Given the description of an element on the screen output the (x, y) to click on. 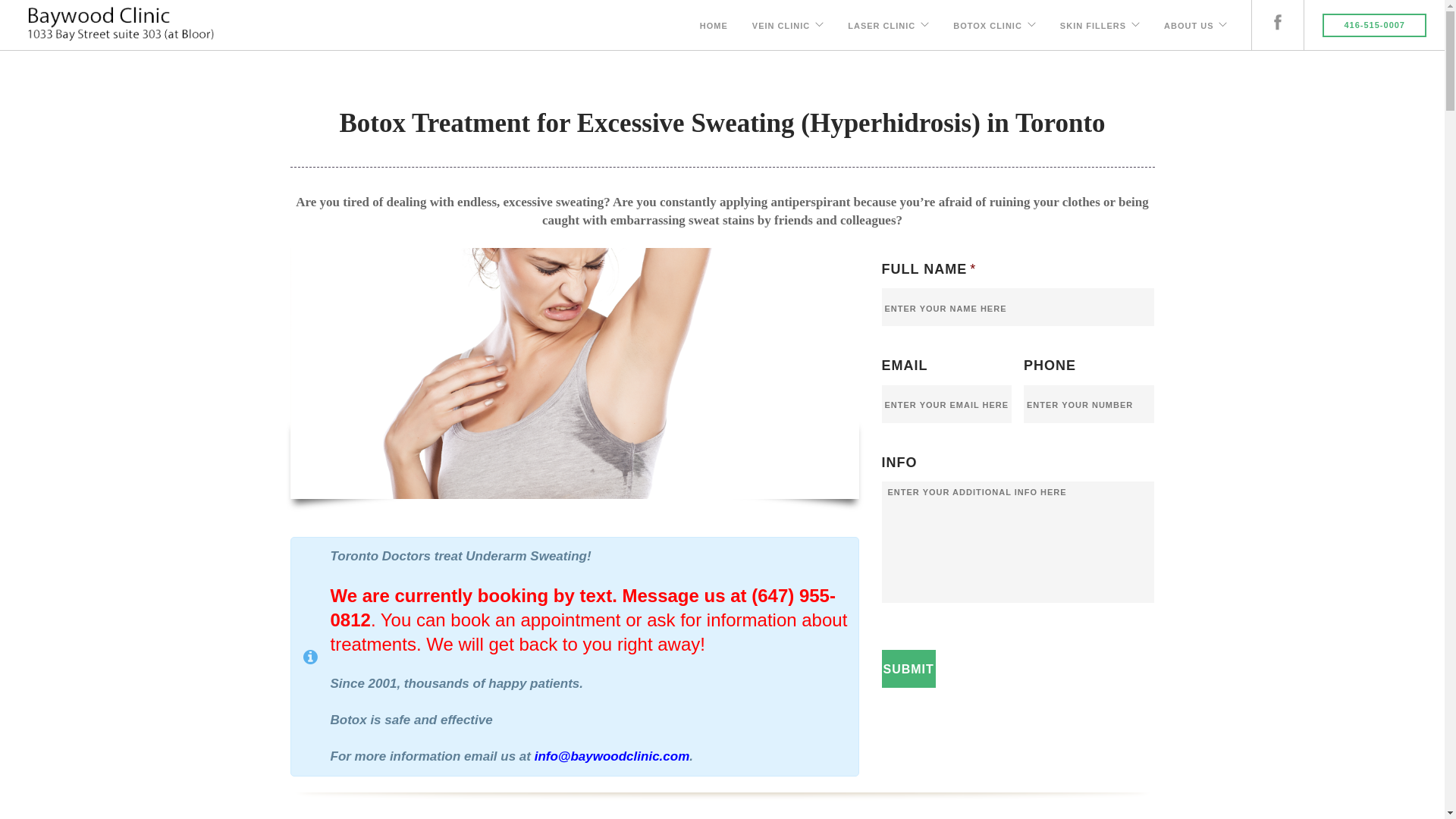
info@baywoodclinic.com Element type: text (612, 756)
HOME Element type: text (713, 22)
LASER CLINIC Element type: text (881, 22)
416-515-0007 Element type: text (1374, 25)
VEIN CLINIC Element type: text (780, 22)
Submit Element type: text (908, 668)
BOTOX CLINIC Element type: text (987, 22)
ABOUT US Element type: text (1188, 22)
SKIN FILLERS Element type: text (1093, 22)
